Given the description of an element on the screen output the (x, y) to click on. 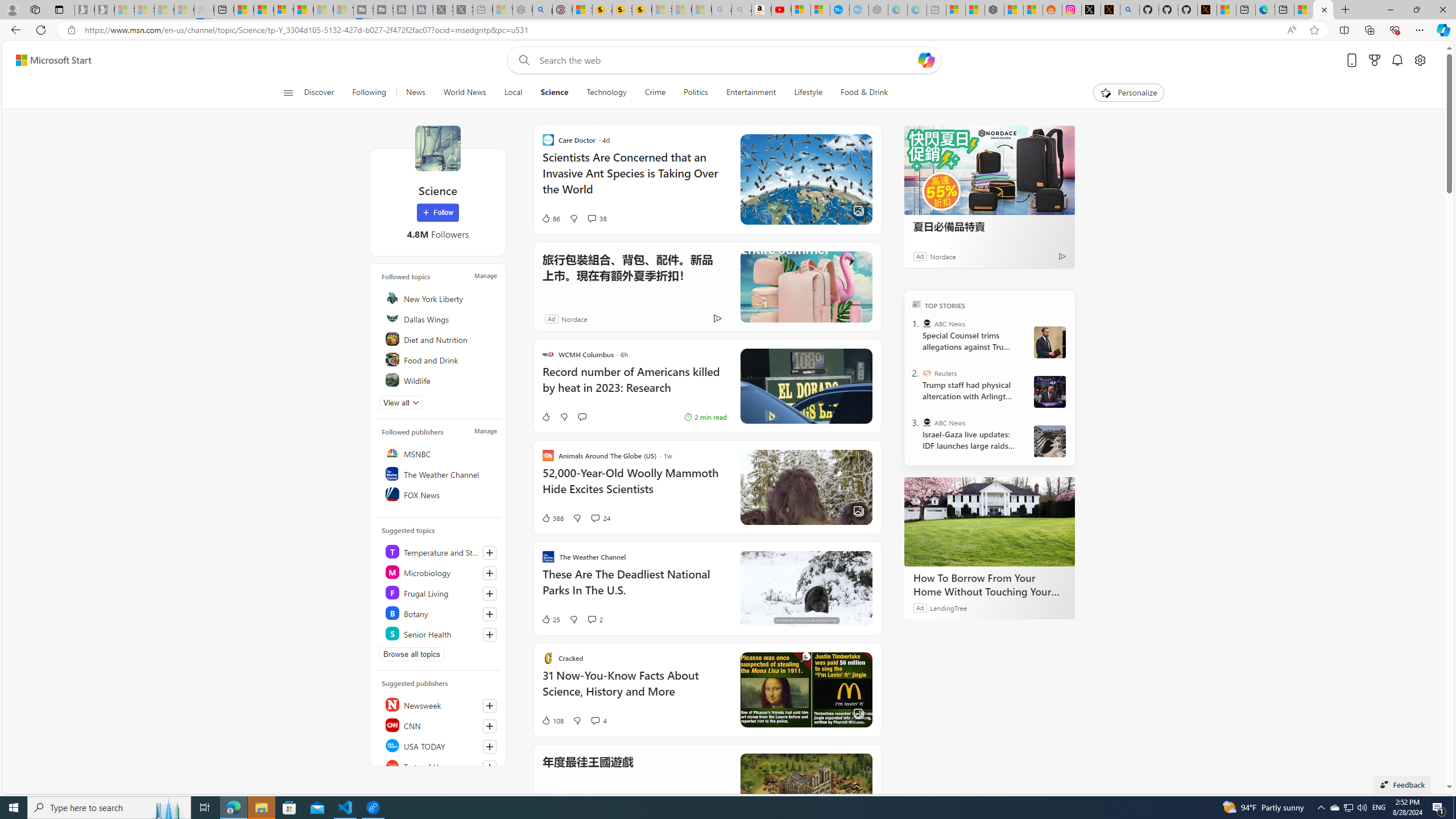
Michelle Starr, Senior Journalist at ScienceAlert (641, 9)
How To Borrow From Your Home Without Touching Your Mortgage (989, 521)
Science - MSN (1323, 9)
Class: highlight (439, 633)
Food & Drink (864, 92)
USA TODAY (439, 745)
The most popular Google 'how to' searches - Sleeping (858, 9)
Local (512, 92)
